Given the description of an element on the screen output the (x, y) to click on. 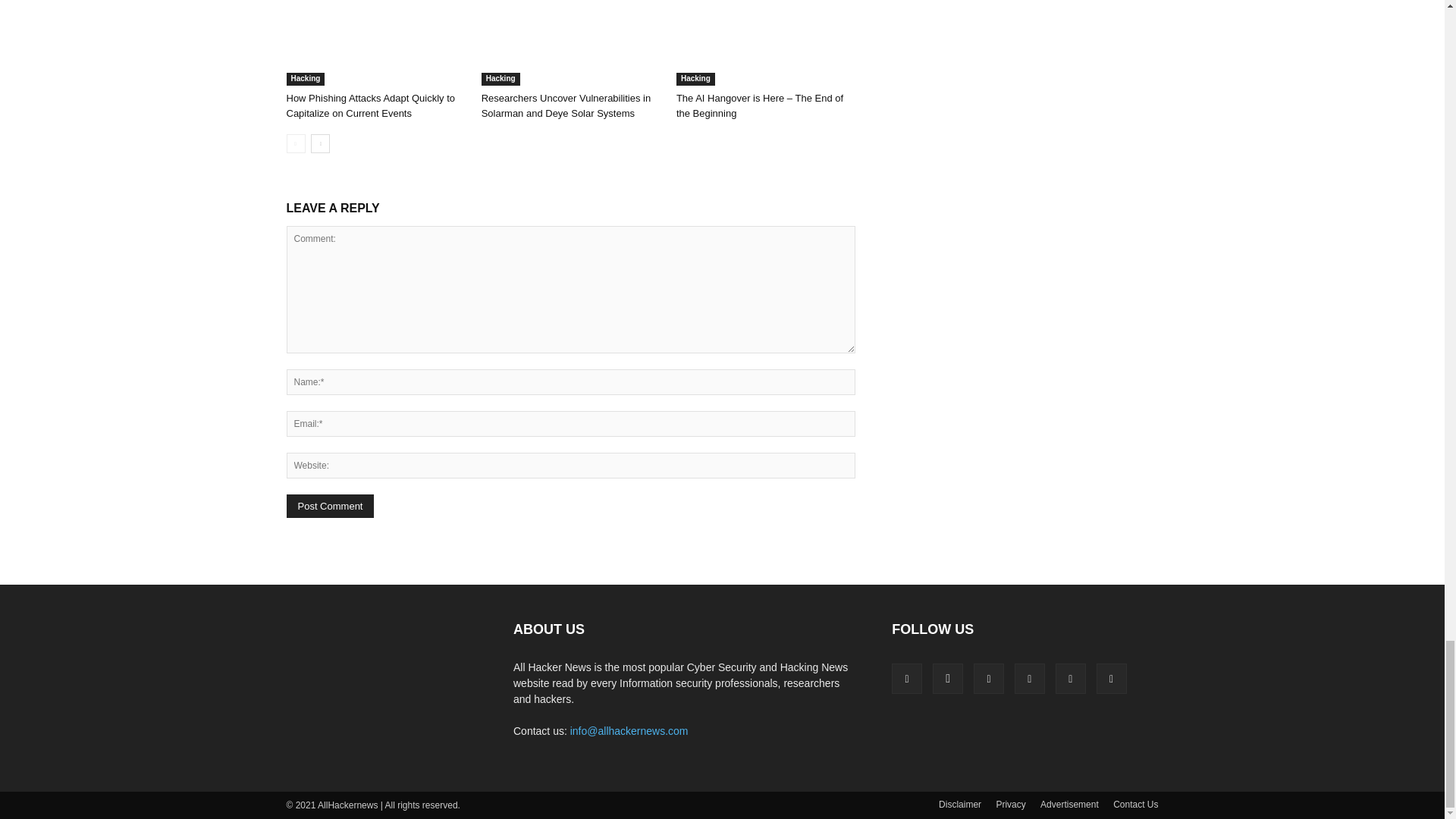
Post Comment (330, 505)
